Given the description of an element on the screen output the (x, y) to click on. 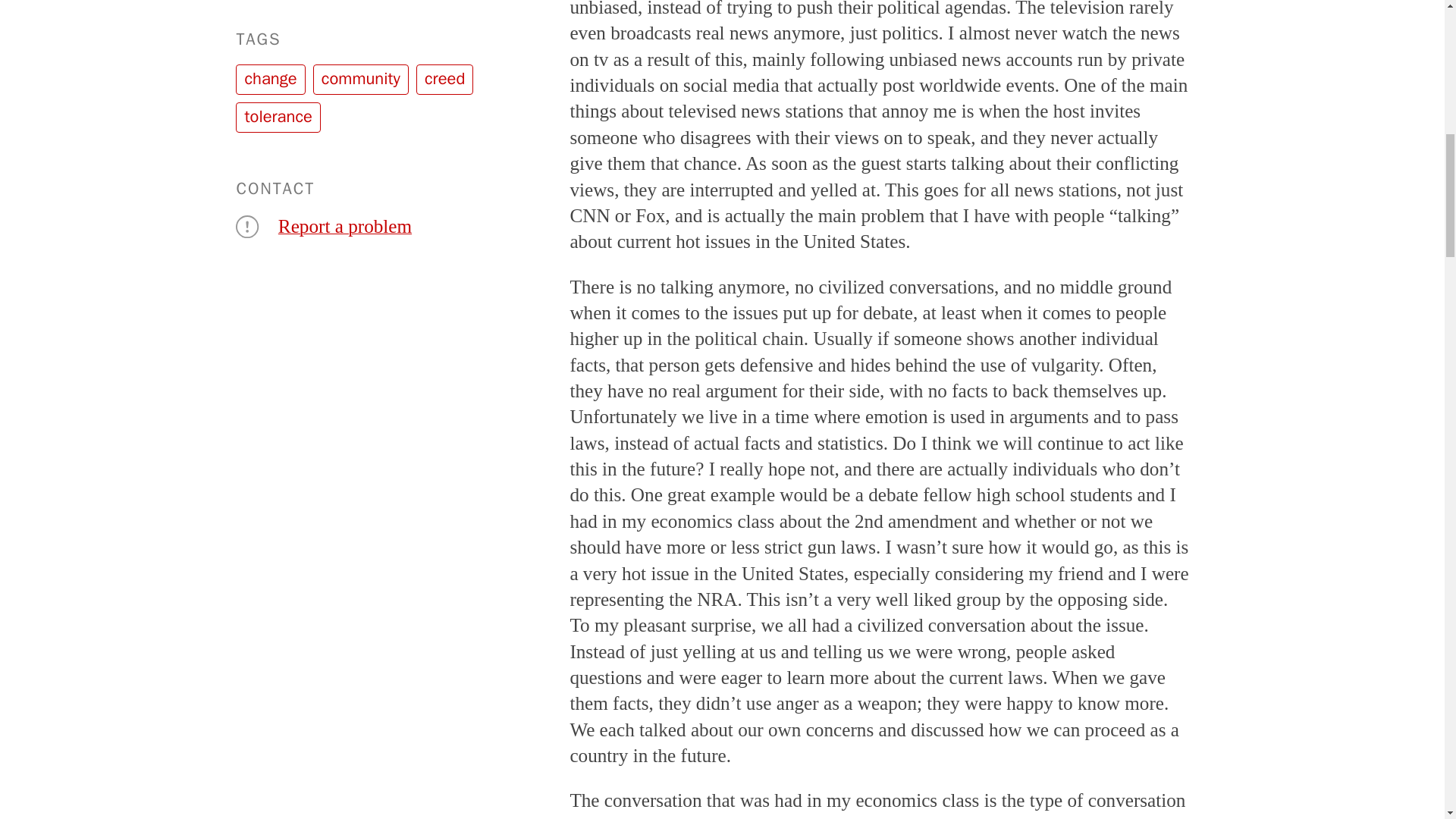
community (361, 79)
tolerance (277, 117)
change (269, 79)
Report a problem (345, 226)
creed (444, 79)
